Given the description of an element on the screen output the (x, y) to click on. 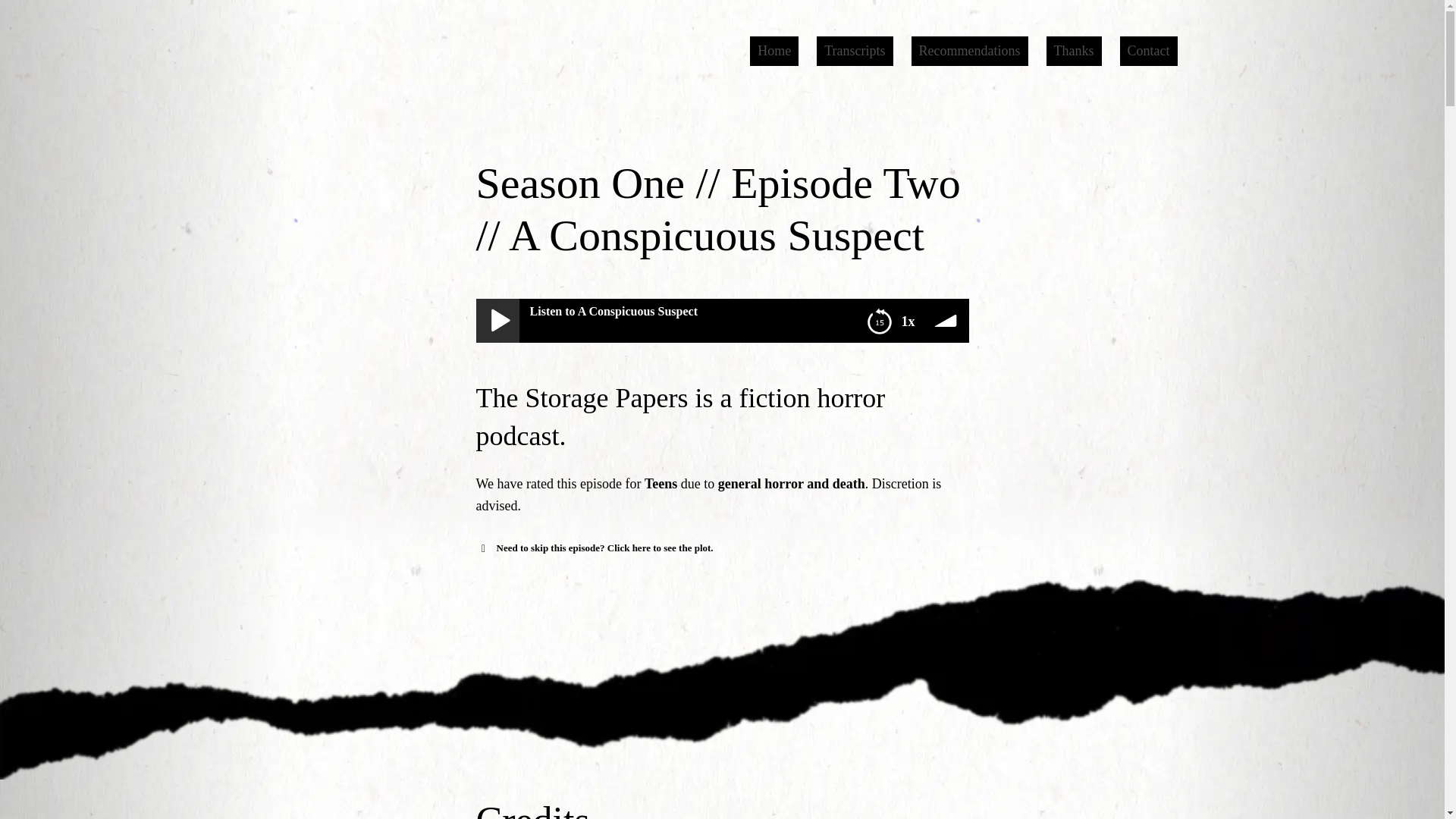
Home (773, 51)
Recommendations (969, 51)
Thanks (1074, 51)
Contact (1147, 51)
Transcripts (854, 51)
